Given the description of an element on the screen output the (x, y) to click on. 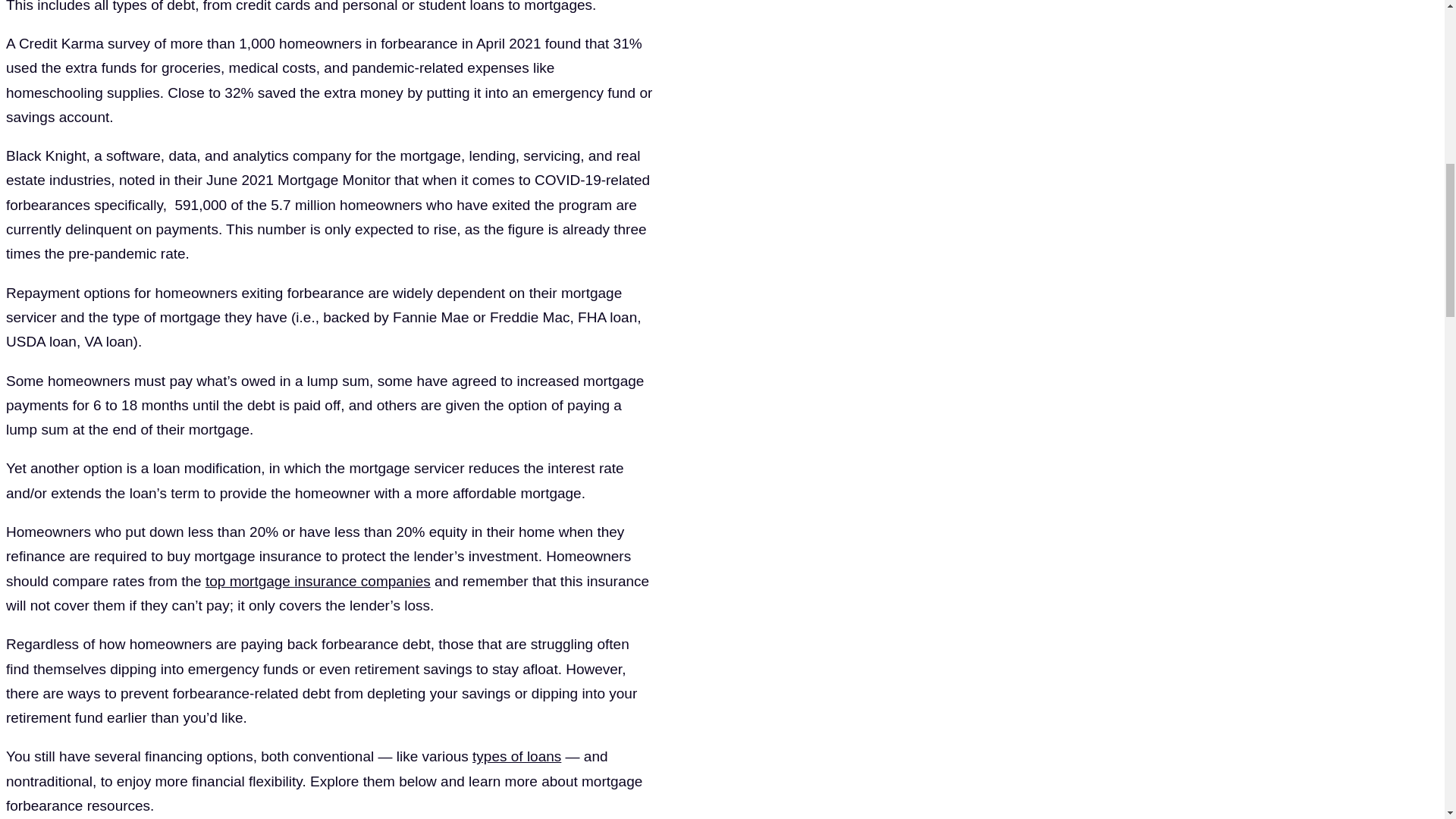
Scroll back to top (1406, 720)
types of loans (515, 756)
top mortgage insurance companies (317, 580)
